Given the description of an element on the screen output the (x, y) to click on. 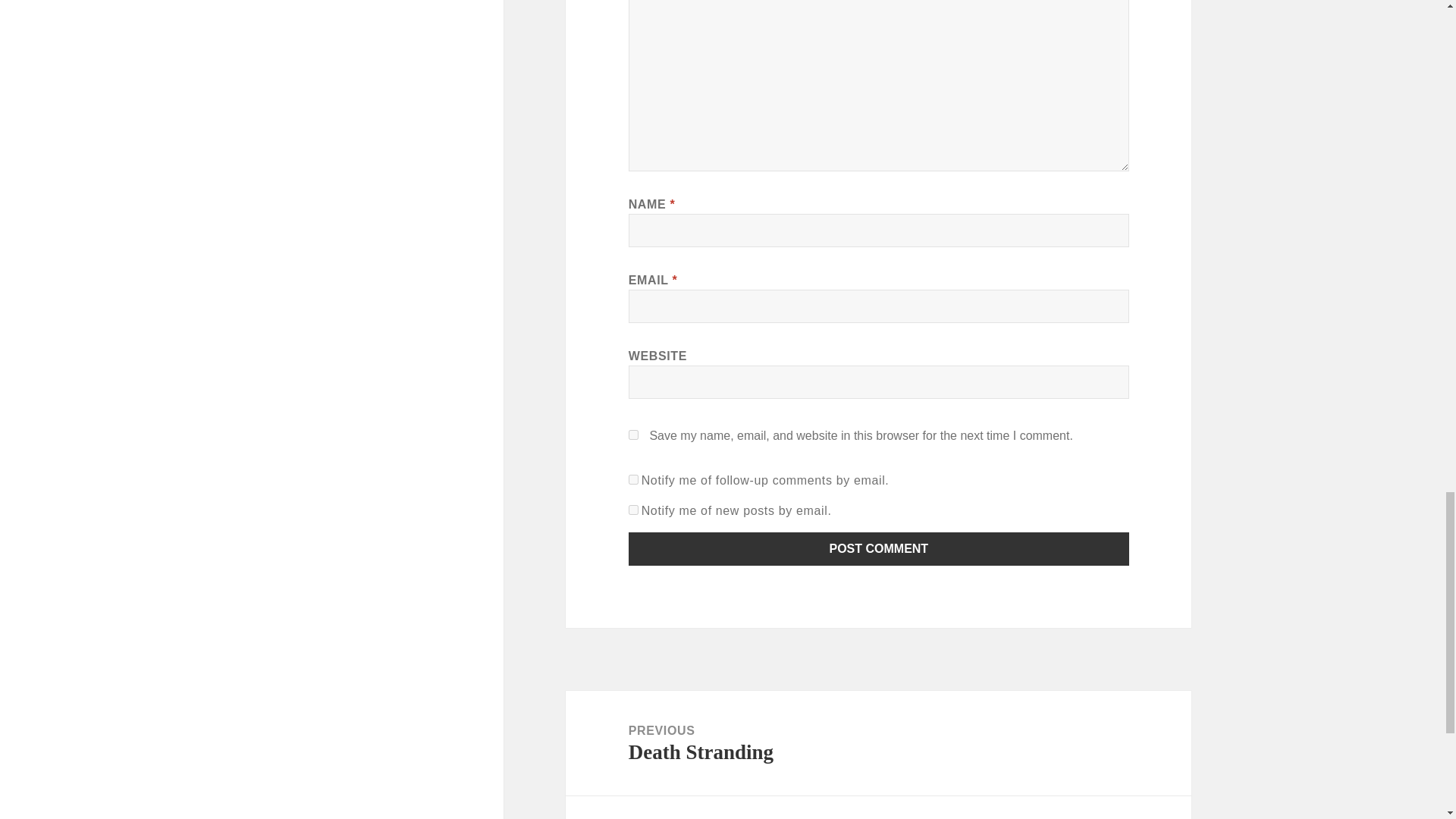
subscribe (633, 510)
subscribe (633, 479)
Post Comment (878, 548)
Post Comment (878, 548)
yes (633, 434)
